Given the description of an element on the screen output the (x, y) to click on. 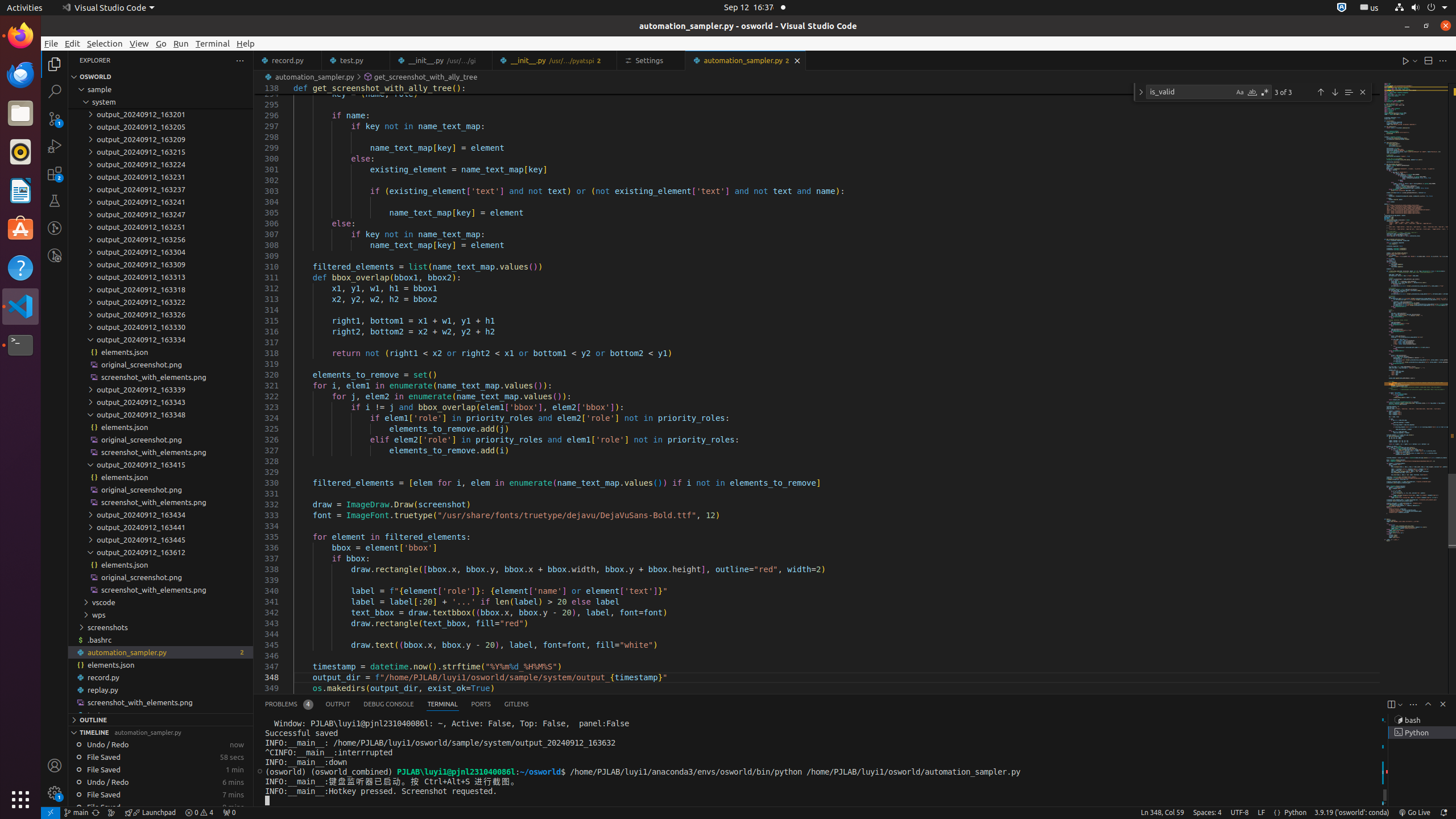
output_20240912_163231 Element type: tree-item (160, 176)
remote Element type: push-button (50, 812)
Accounts Element type: push-button (54, 765)
Run Python File Element type: push-button (1405, 60)
File Element type: push-button (50, 43)
